Given the description of an element on the screen output the (x, y) to click on. 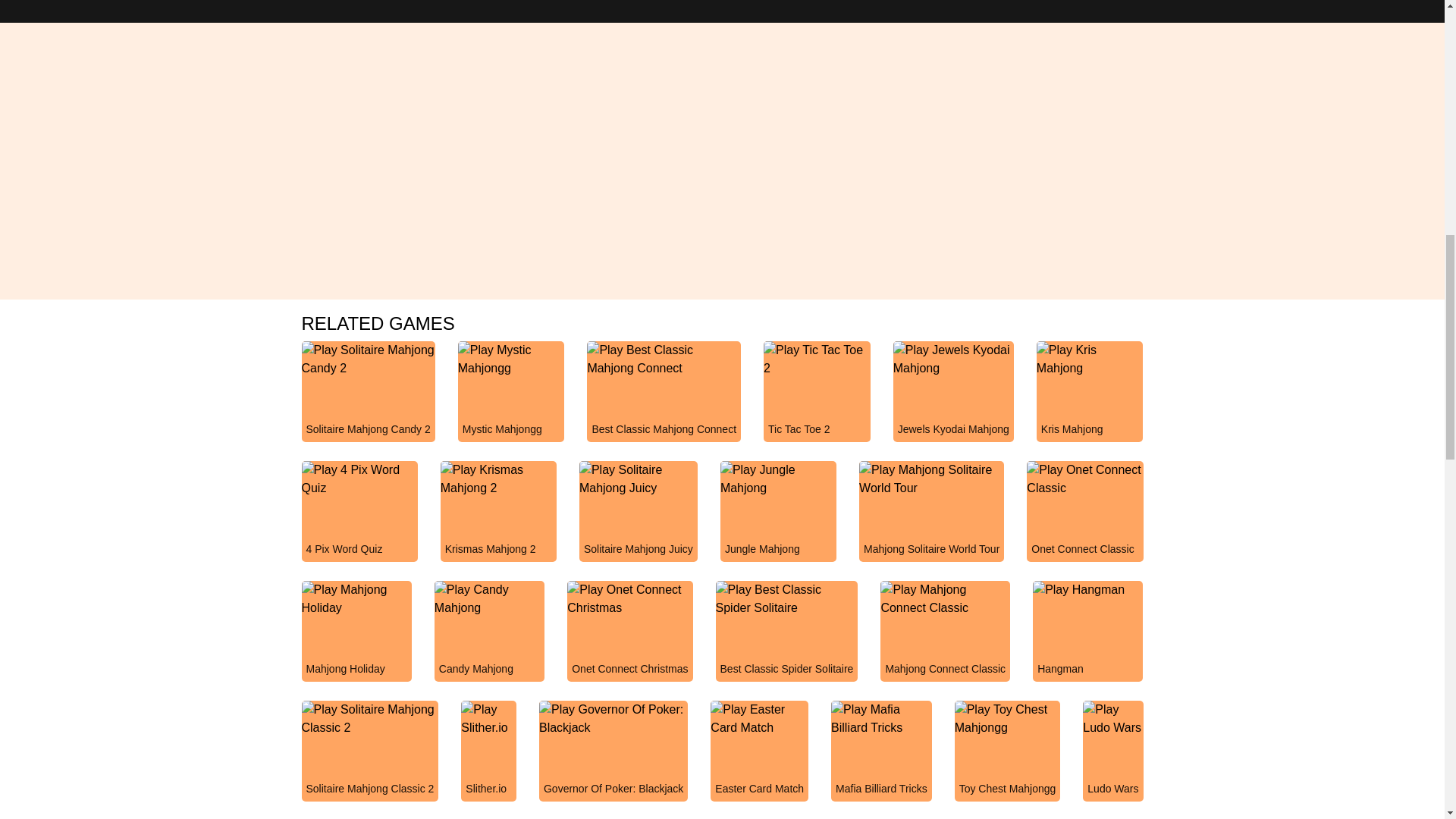
4 Pix Word Quiz (359, 526)
Jewels Kyodai Mahjong (953, 406)
Krismas Mahjong 2 (498, 526)
Best Classic Mahjong Connect (663, 406)
Tic Tac Toe 2 (816, 406)
Mystic Mahjongg (511, 406)
Solitaire Mahjong Candy 2 (368, 406)
Kris Mahjong (1089, 406)
